Given the description of an element on the screen output the (x, y) to click on. 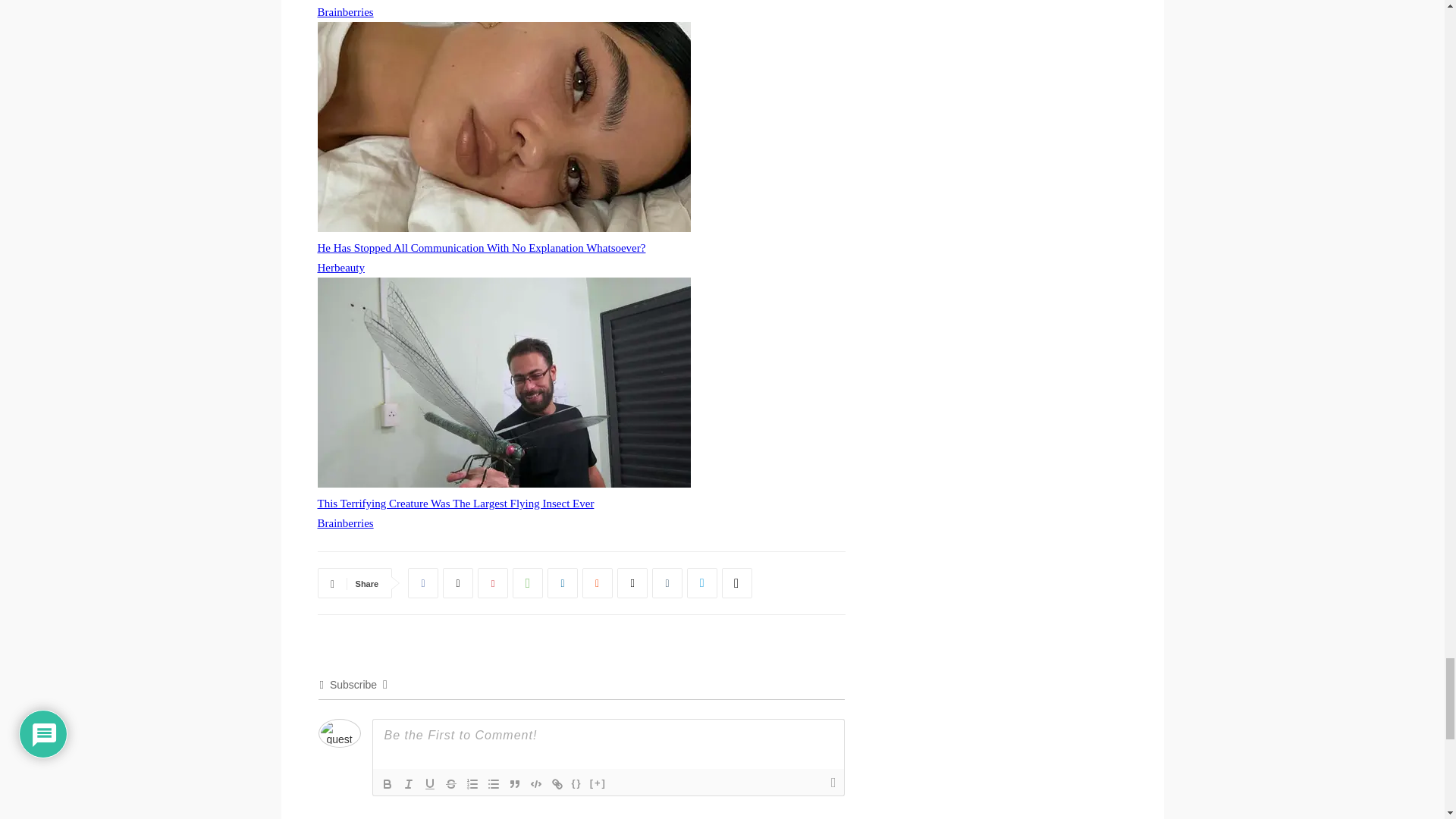
Facebook (422, 583)
Linkedin (562, 583)
WhatsApp (527, 583)
Pinterest (492, 583)
Twitter (457, 583)
